Given the description of an element on the screen output the (x, y) to click on. 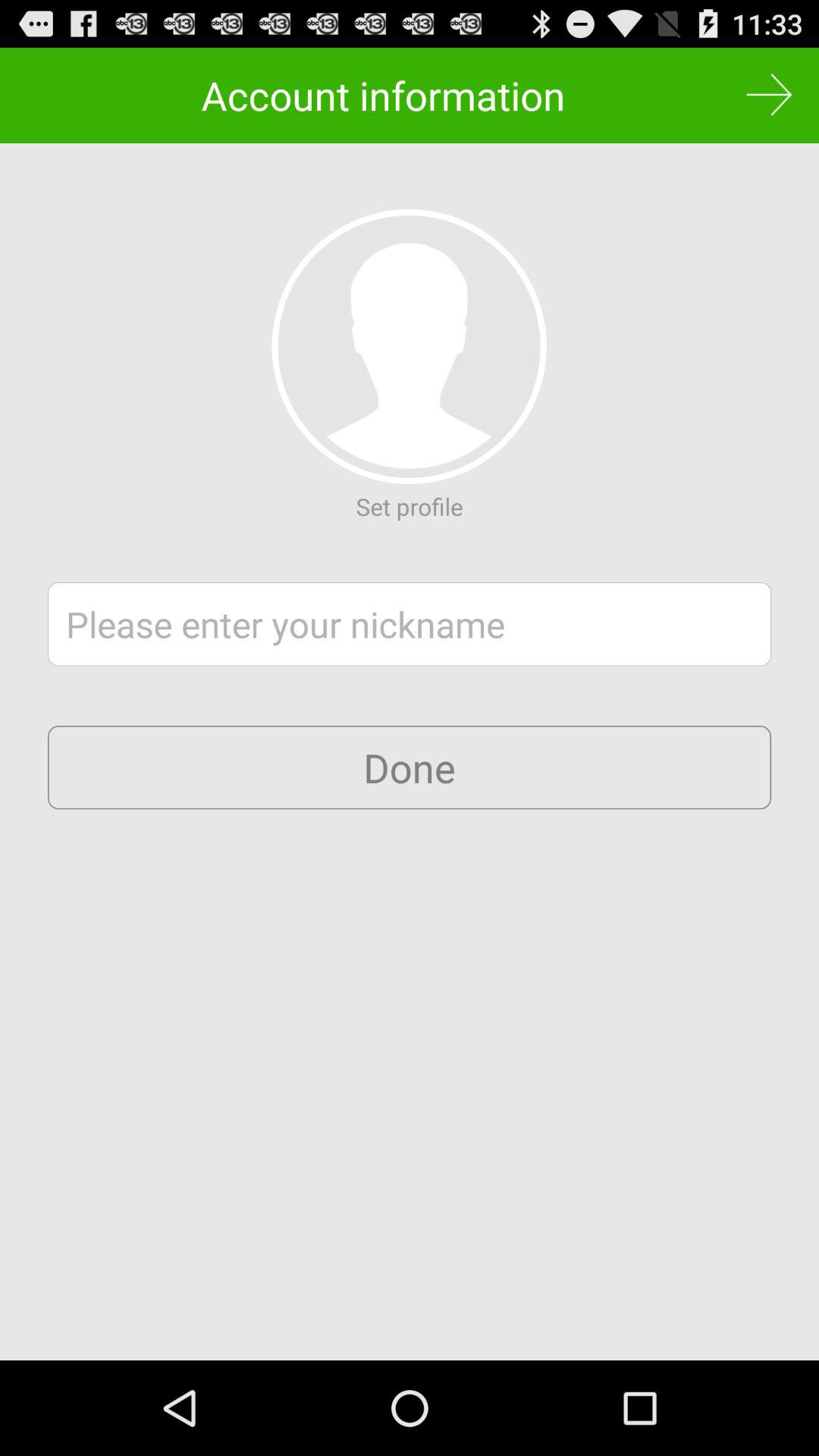
set profile photo (408, 346)
